Given the description of an element on the screen output the (x, y) to click on. 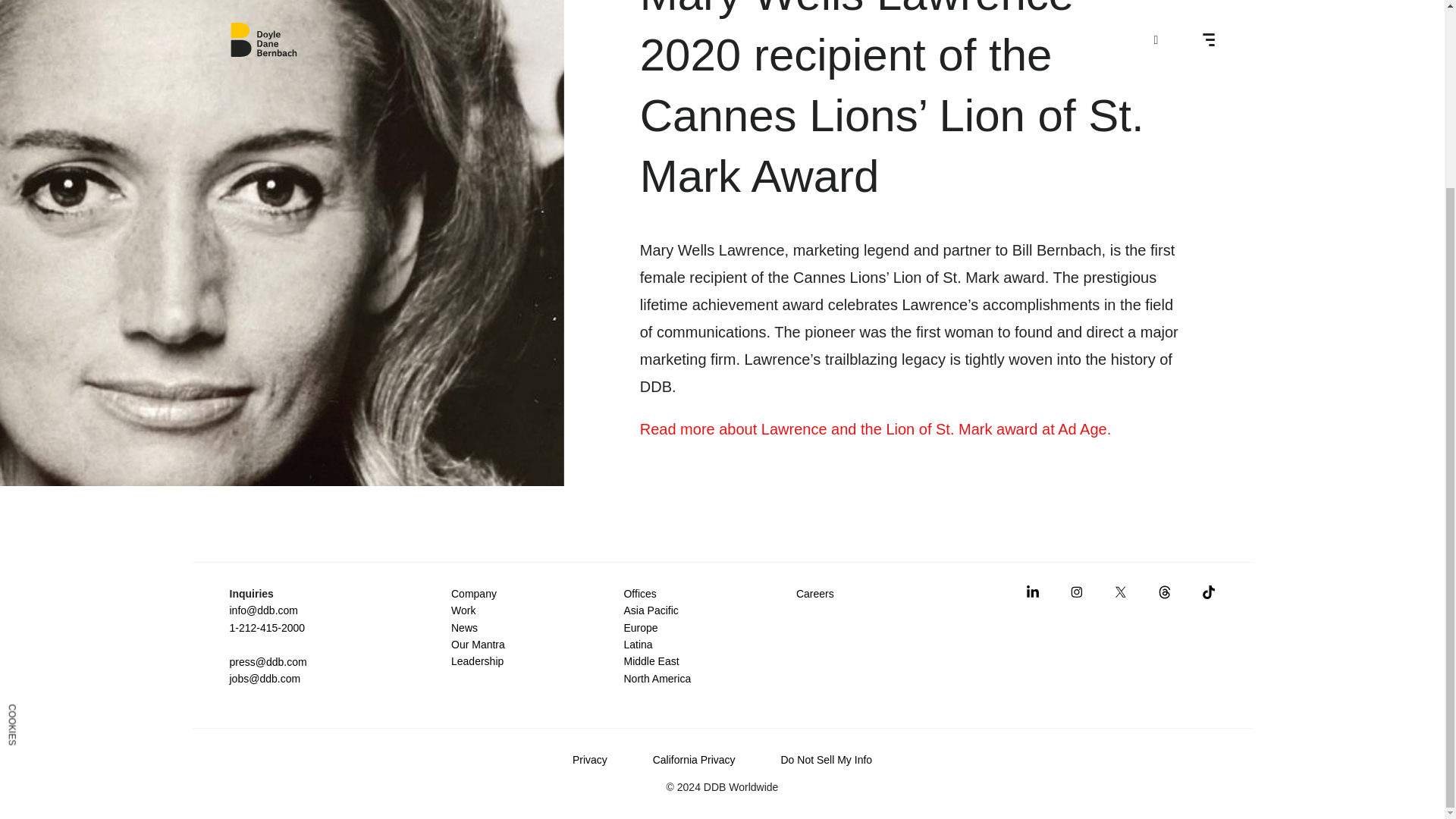
Asia Pacific (650, 610)
Our Mantra (478, 644)
North America (656, 678)
Do Not Sell My Info (826, 759)
Middle East (650, 661)
Company (473, 593)
Careers (815, 593)
Offices (639, 593)
1-212-415-2000 (266, 627)
Privacy (589, 759)
Europe (640, 627)
Work (463, 610)
California Privacy (693, 759)
News (464, 627)
Leadership (477, 661)
